Given the description of an element on the screen output the (x, y) to click on. 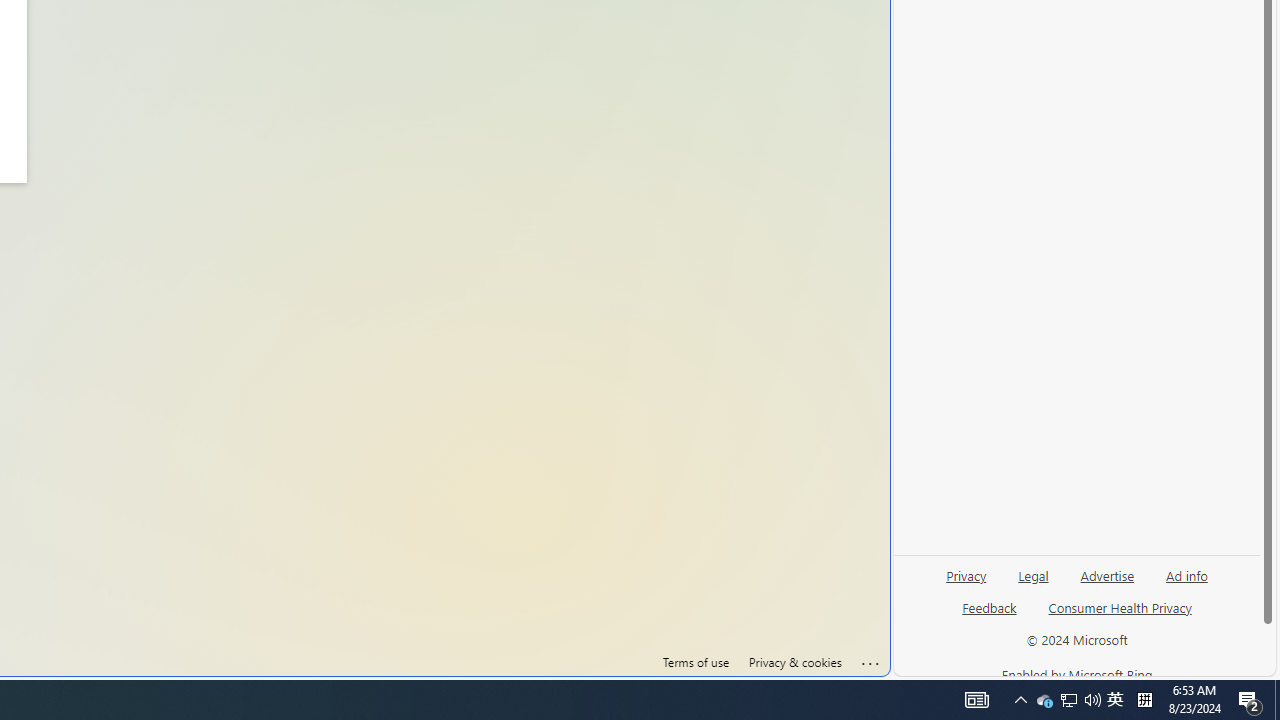
Privacy & cookies (794, 662)
Consumer Health Privacy (1119, 615)
Ad info (1186, 583)
Click here for troubleshooting information (871, 659)
Terms of use (695, 662)
